Given the description of an element on the screen output the (x, y) to click on. 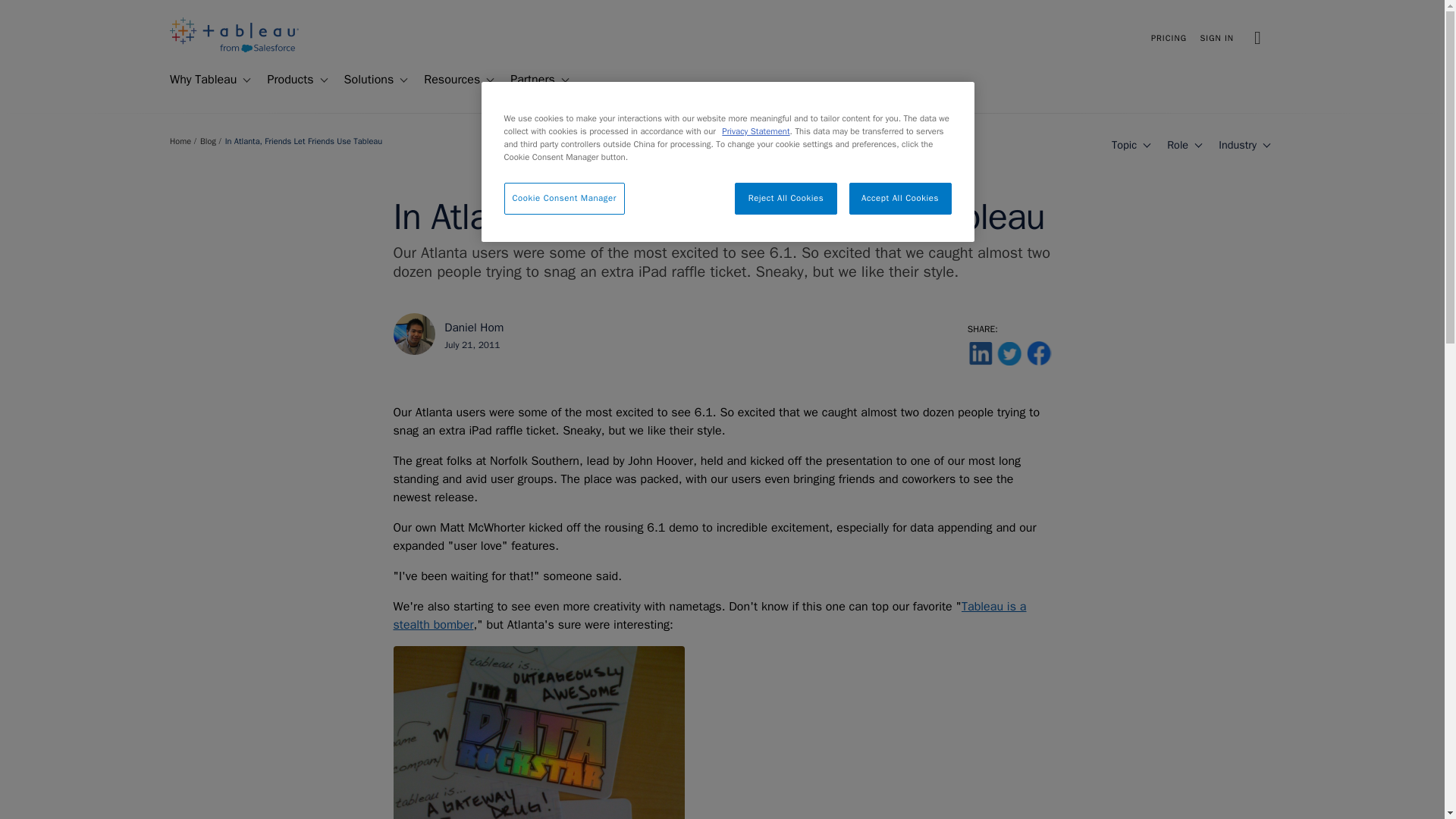
Toggle sub-navigation (322, 79)
Toggle sub-navigation (402, 79)
Why Tableau (196, 79)
Toggle sub-navigation (244, 79)
Return to the Tableau Software home page (234, 48)
Solutions (362, 79)
Products (283, 79)
